Given the description of an element on the screen output the (x, y) to click on. 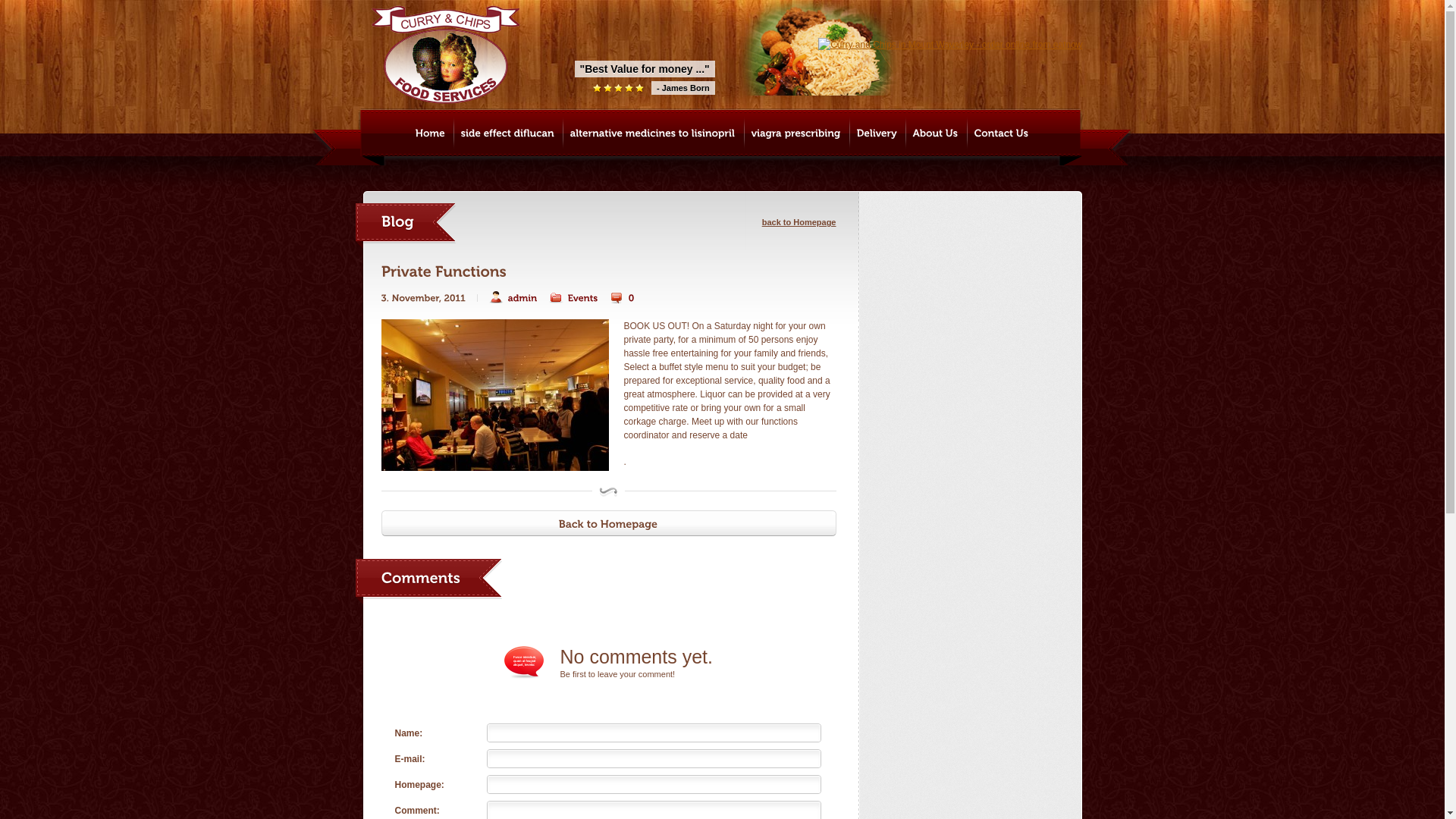
event Element type: hover (494, 394)
Curry and Chips in Mount Waverley - order online from eatnow Element type: hover (950, 44)
Posts by admin Element type: hover (512, 297)
View all posts in Events Element type: hover (573, 297)
back to Homepage Element type: text (799, 216)
